Given the description of an element on the screen output the (x, y) to click on. 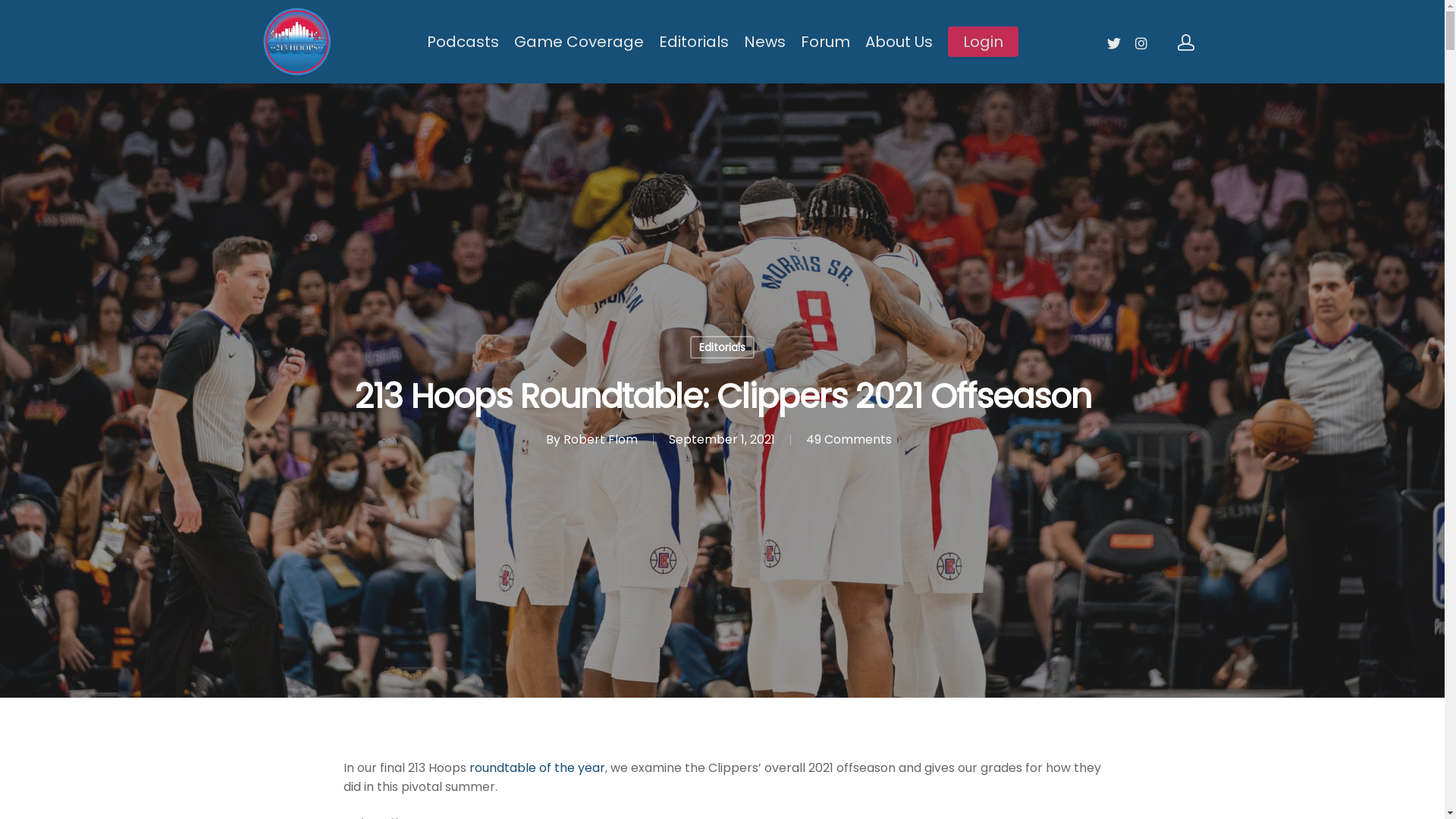
Forum Element type: text (825, 41)
Game Coverage Element type: text (578, 41)
Robert Flom Element type: text (599, 439)
49 Comments Element type: text (848, 439)
Editorials Element type: text (693, 41)
Login Element type: text (982, 41)
News Element type: text (763, 41)
roundtable of the year Element type: text (536, 767)
Editorials Element type: text (722, 346)
Podcasts Element type: text (462, 41)
About Us Element type: text (897, 41)
